Given the description of an element on the screen output the (x, y) to click on. 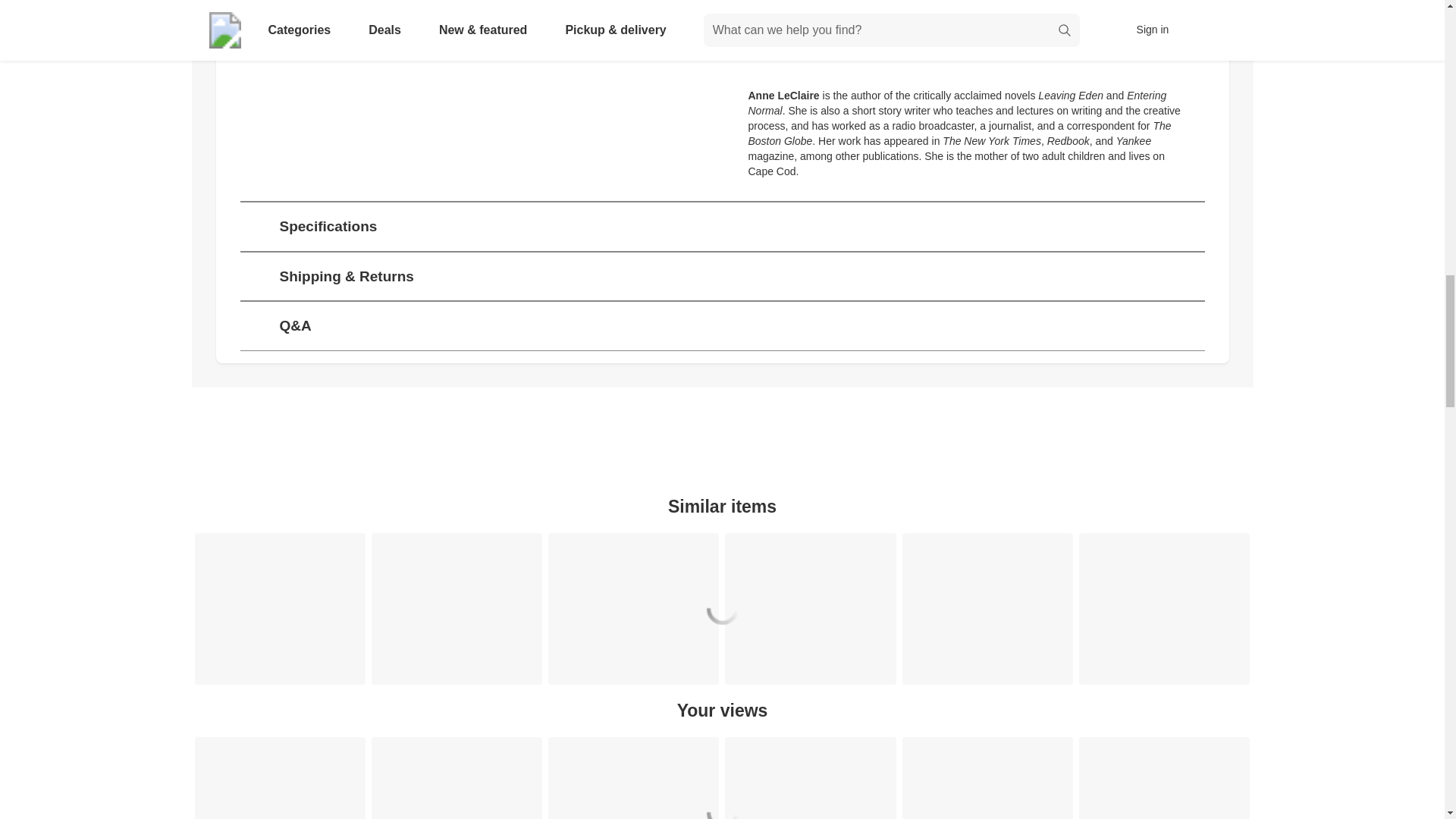
Specifications (722, 226)
